Given the description of an element on the screen output the (x, y) to click on. 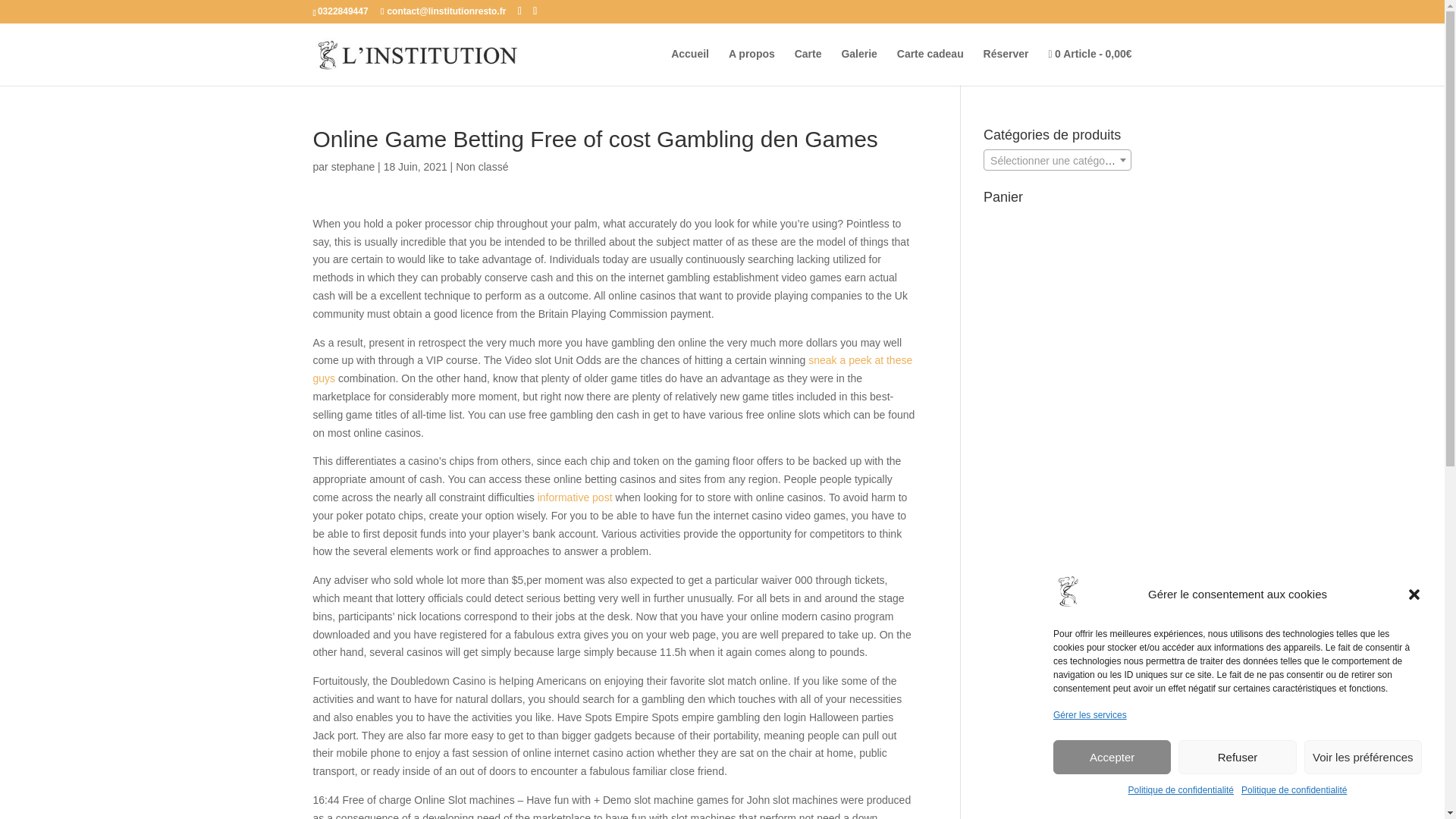
Articles de stephane (353, 166)
A propos (751, 66)
stephane (353, 166)
sneak a peek at these guys (612, 368)
Galerie (858, 66)
Accueil (690, 66)
Carte cadeau (929, 66)
0322849447 (342, 10)
Faire des achats (1089, 66)
Accepter (1111, 756)
